Given the description of an element on the screen output the (x, y) to click on. 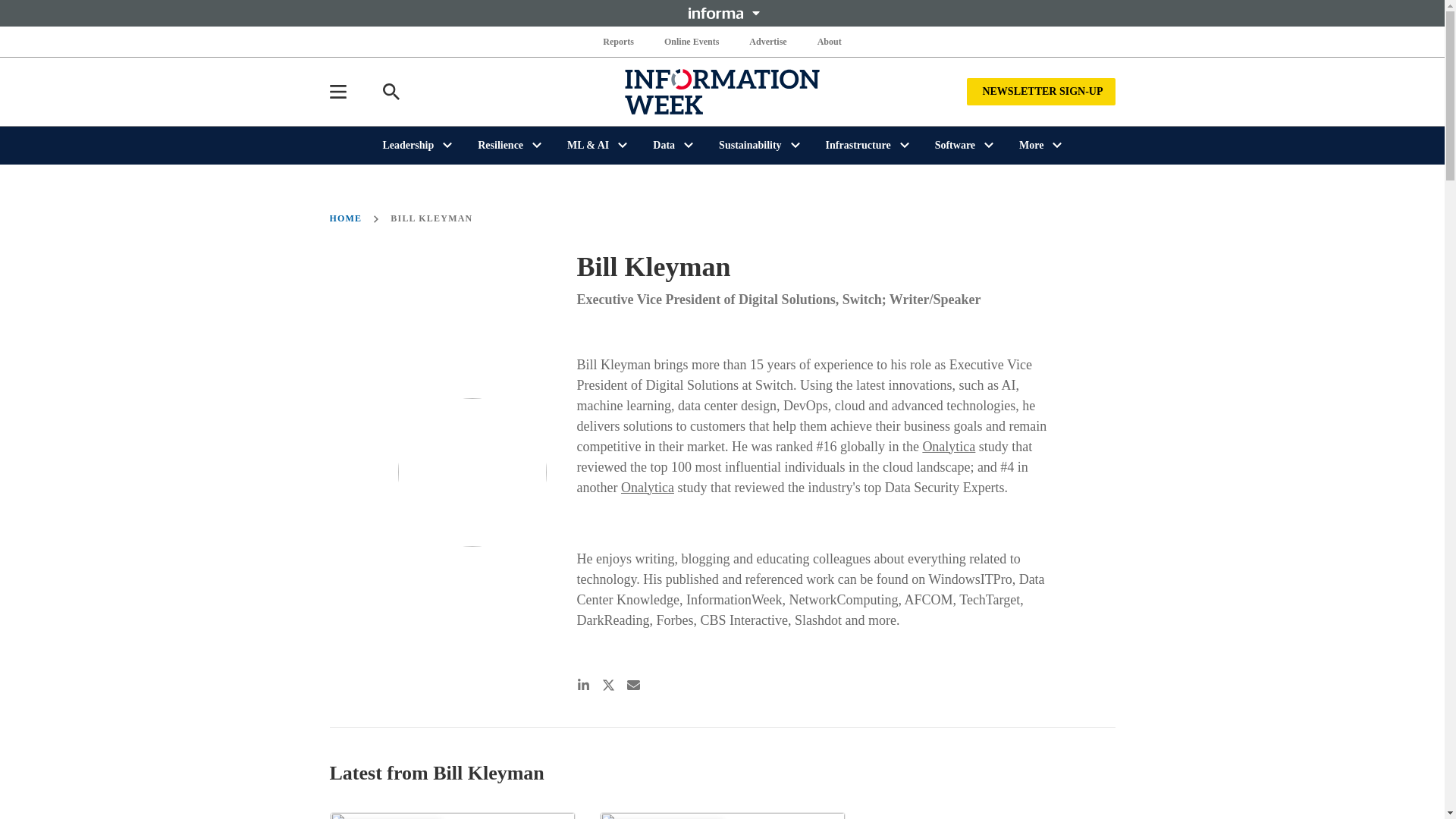
NEWSLETTER SIGN-UP (1040, 90)
Reports (618, 41)
Advertise (767, 41)
About (828, 41)
InformationWeek (722, 91)
Online Events (691, 41)
